Given the description of an element on the screen output the (x, y) to click on. 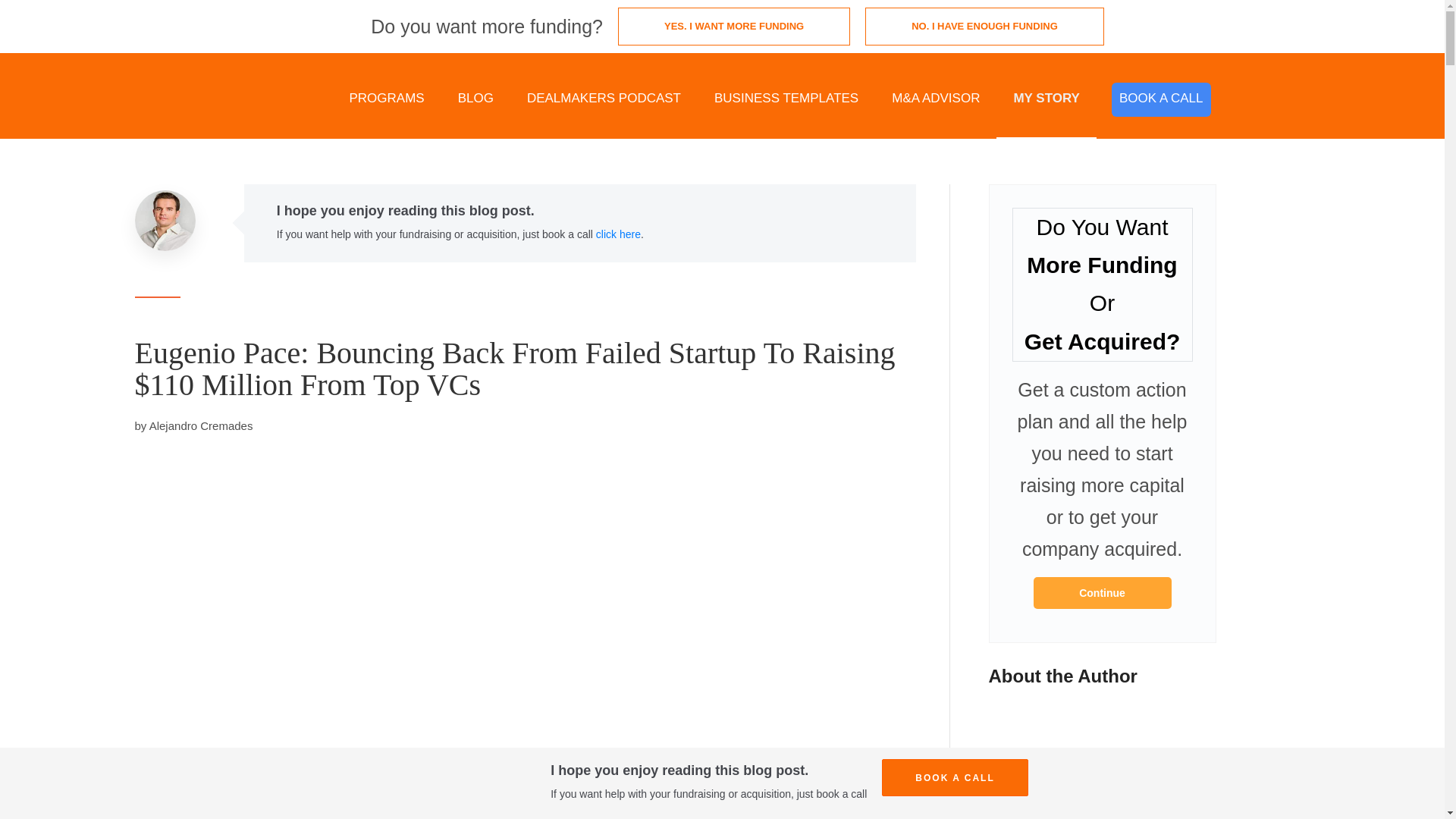
Art of Startup Fundraising (1101, 593)
NO. I HAVE ENOUGH FUNDING (983, 26)
Posts by Alejandro Cremades (201, 425)
BOOK A CALL (1161, 99)
BUSINESS TEMPLATES (786, 99)
click here (617, 234)
MY STORY (1045, 99)
PROGRAMS (386, 99)
DEALMAKERS PODCAST (604, 99)
YES. I WANT MORE FUNDING (733, 26)
